Given the description of an element on the screen output the (x, y) to click on. 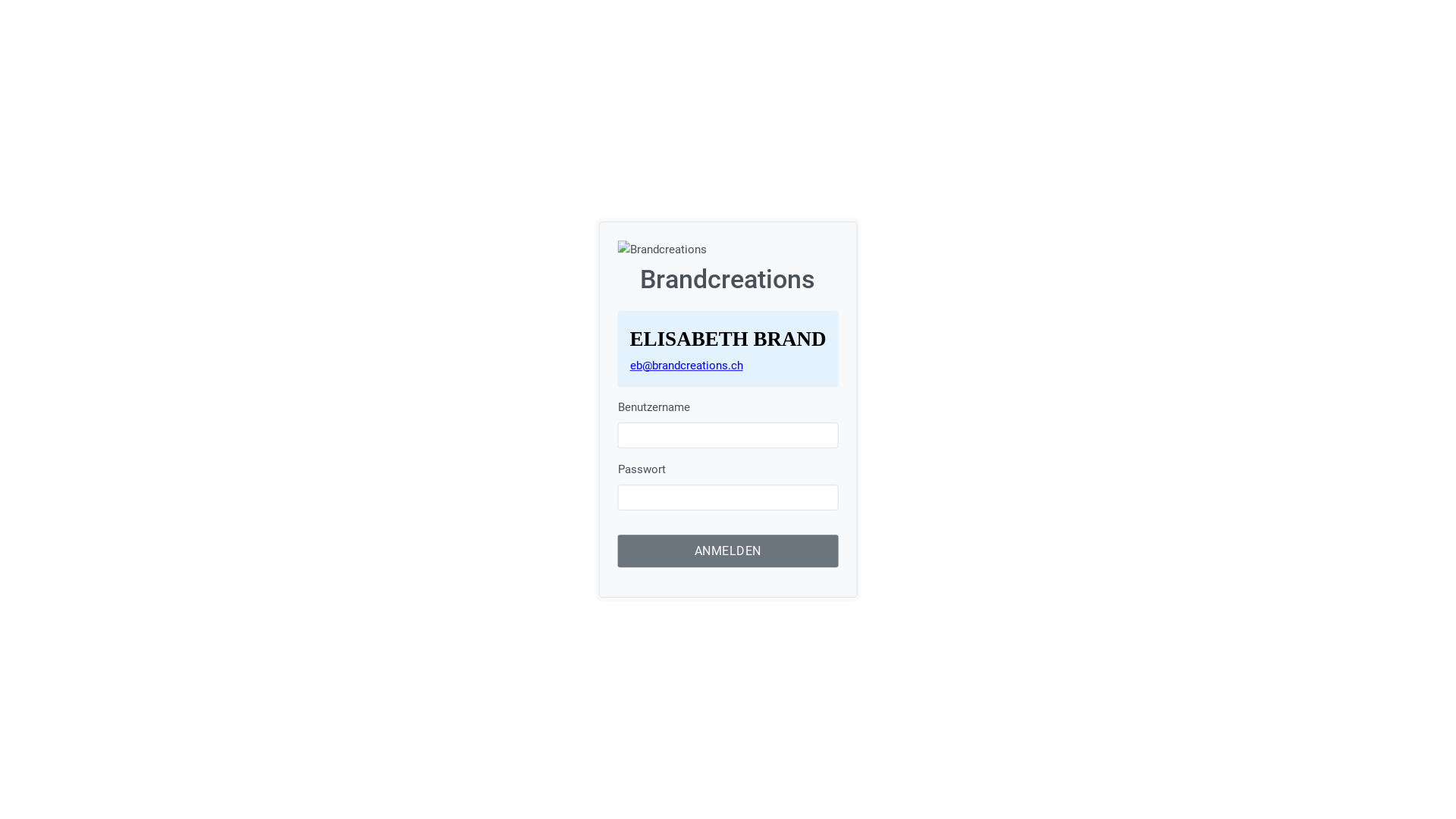
eb@brandcreations.ch Element type: text (686, 365)
Anmelden Element type: text (728, 550)
